Given the description of an element on the screen output the (x, y) to click on. 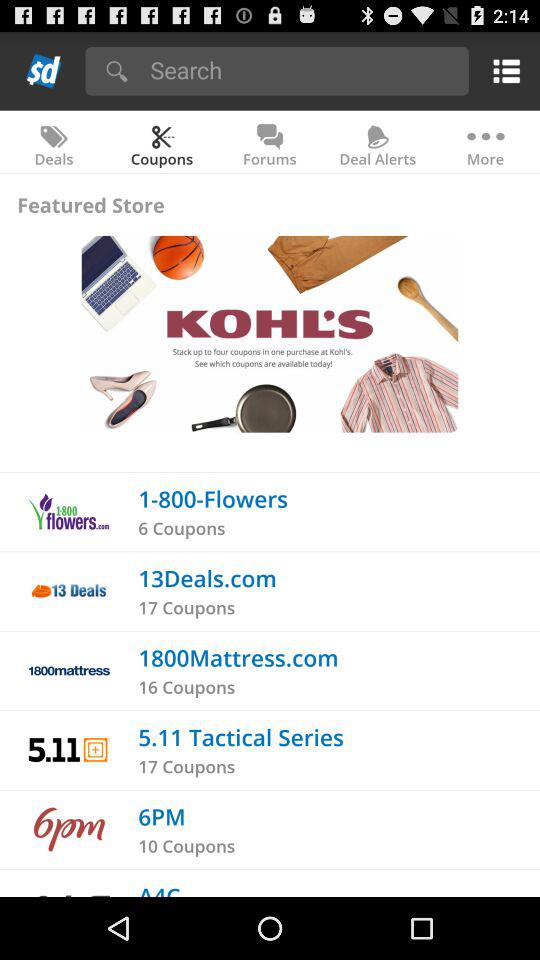
click the 1-800-flowers app (213, 498)
